Given the description of an element on the screen output the (x, y) to click on. 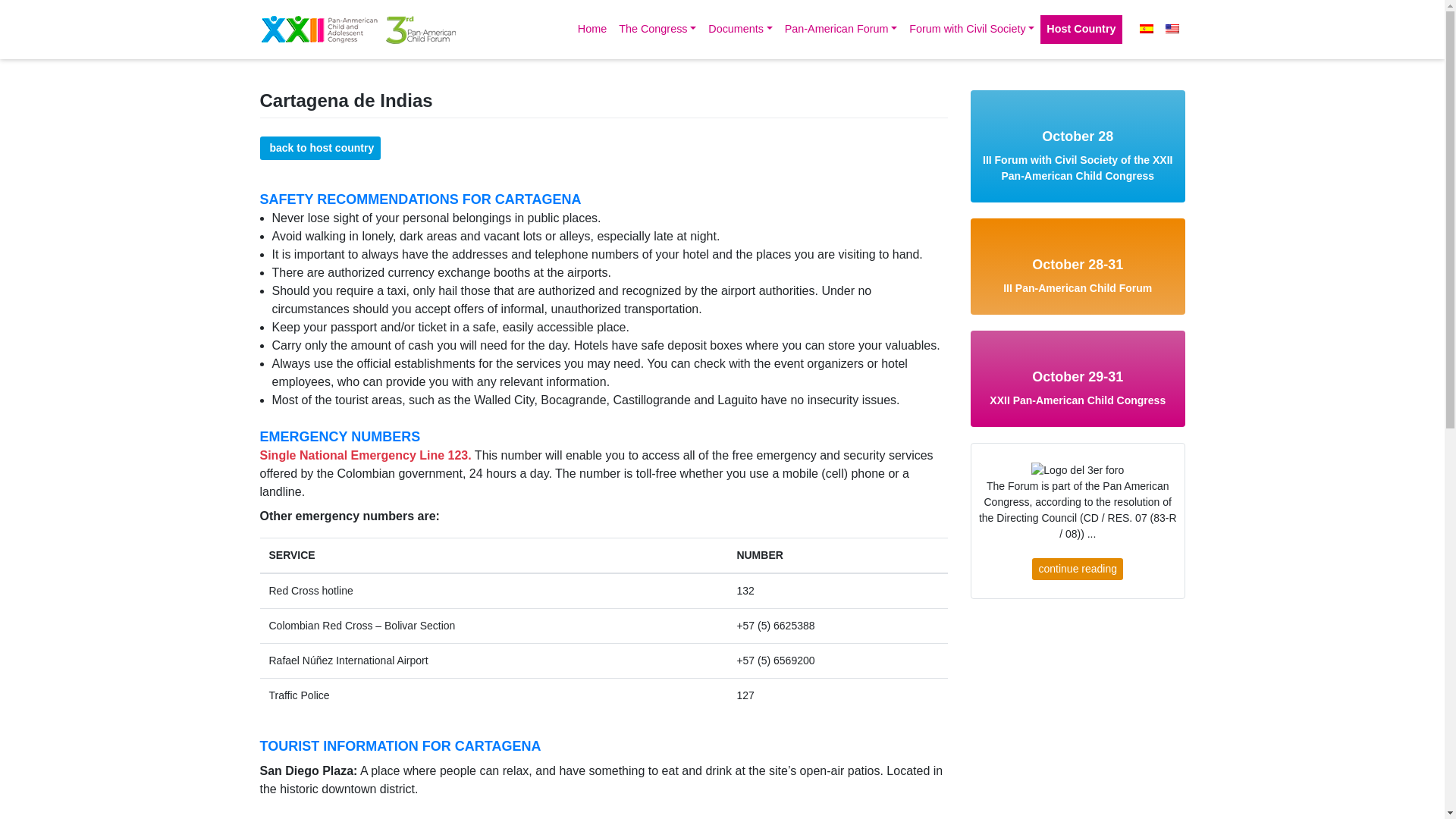
Forum with Civil Society (971, 29)
Home (592, 29)
Documents (739, 29)
Host Country (1081, 29)
back to host country (319, 147)
Documents (739, 29)
The Congress (656, 29)
continue reading (1077, 568)
Pan-American Forum (840, 29)
The Congress (656, 29)
